Given the description of an element on the screen output the (x, y) to click on. 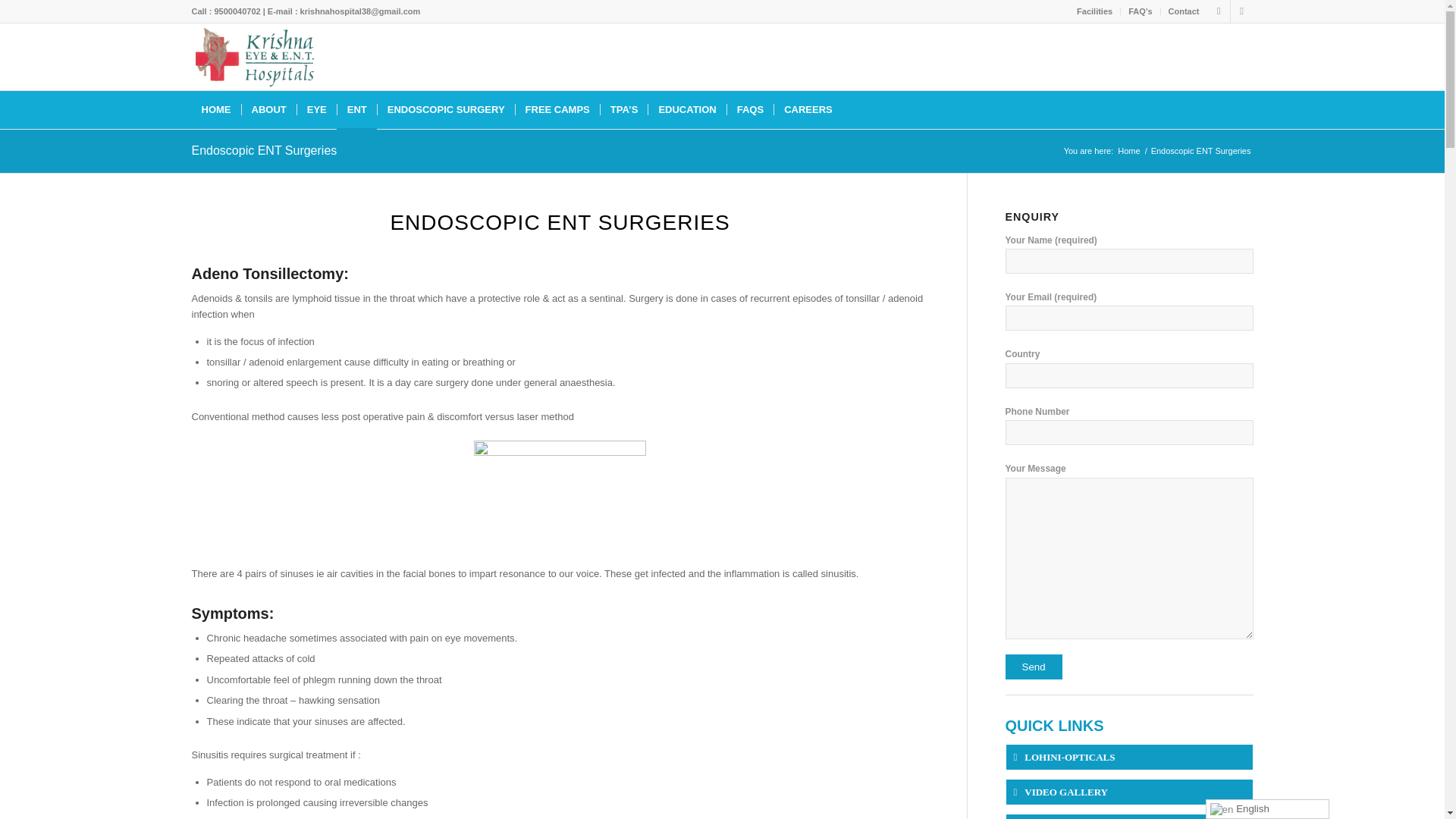
ABOUT (269, 109)
Permanent Link: Endoscopic ENT Surgeries (263, 150)
Krishna Eye and ENT Hospitals, Chennai (1128, 151)
Facebook (1217, 11)
EYE (316, 109)
HOME (215, 109)
Youtube (1241, 11)
Facilities (1094, 11)
Send (1034, 666)
ENT (356, 109)
Contact (1184, 11)
